Given the description of an element on the screen output the (x, y) to click on. 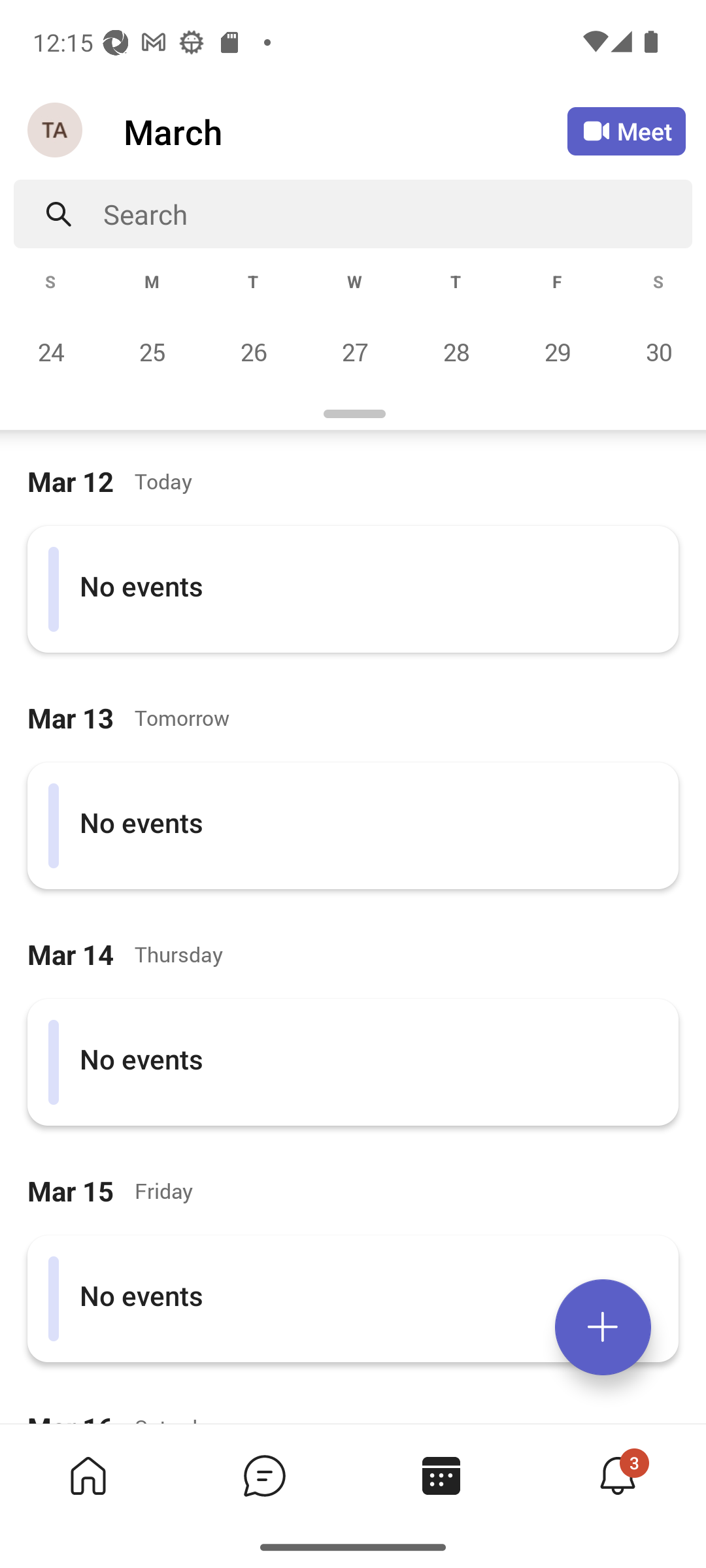
Navigation (56, 130)
Meet Meet now or join with an ID (626, 130)
March March Calendar Agenda View (345, 131)
Search (397, 213)
Sunday, March 24 24 (50, 351)
Monday, March 25 25 (151, 351)
Tuesday, March 26 26 (253, 351)
Wednesday, March 27 27 (354, 351)
Thursday, March 28 28 (455, 351)
Friday, March 29 29 (556, 351)
Saturday, March 30 30 (656, 351)
Expand meetings menu (602, 1327)
Home tab,1 of 4, not selected (88, 1475)
Chat tab,2 of 4, not selected (264, 1475)
Calendar tab, 3 of 4 (441, 1475)
Activity tab,4 of 4, not selected, 3 new 3 (617, 1475)
